Given the description of an element on the screen output the (x, y) to click on. 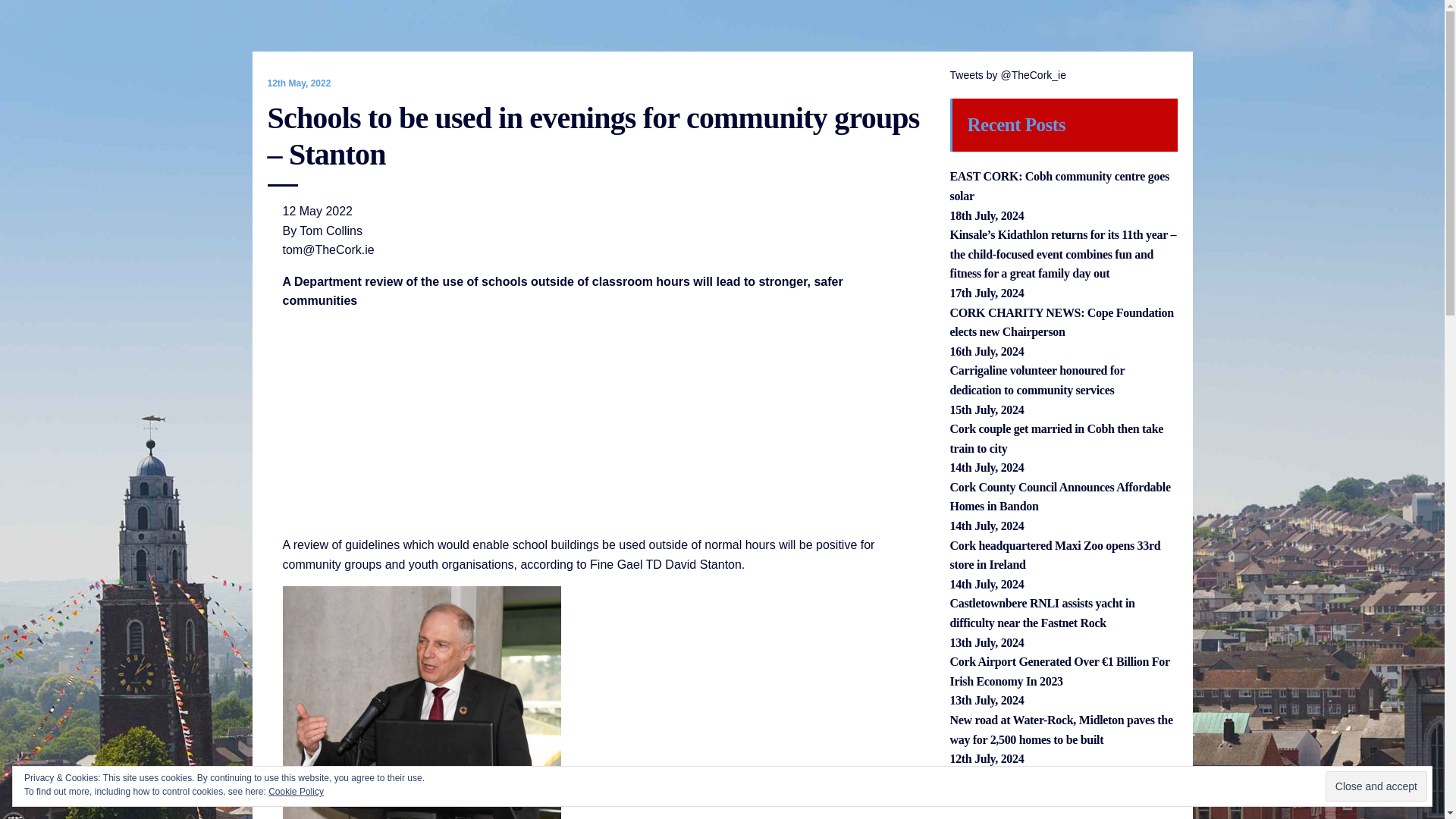
Close and accept (1375, 786)
